Given the description of an element on the screen output the (x, y) to click on. 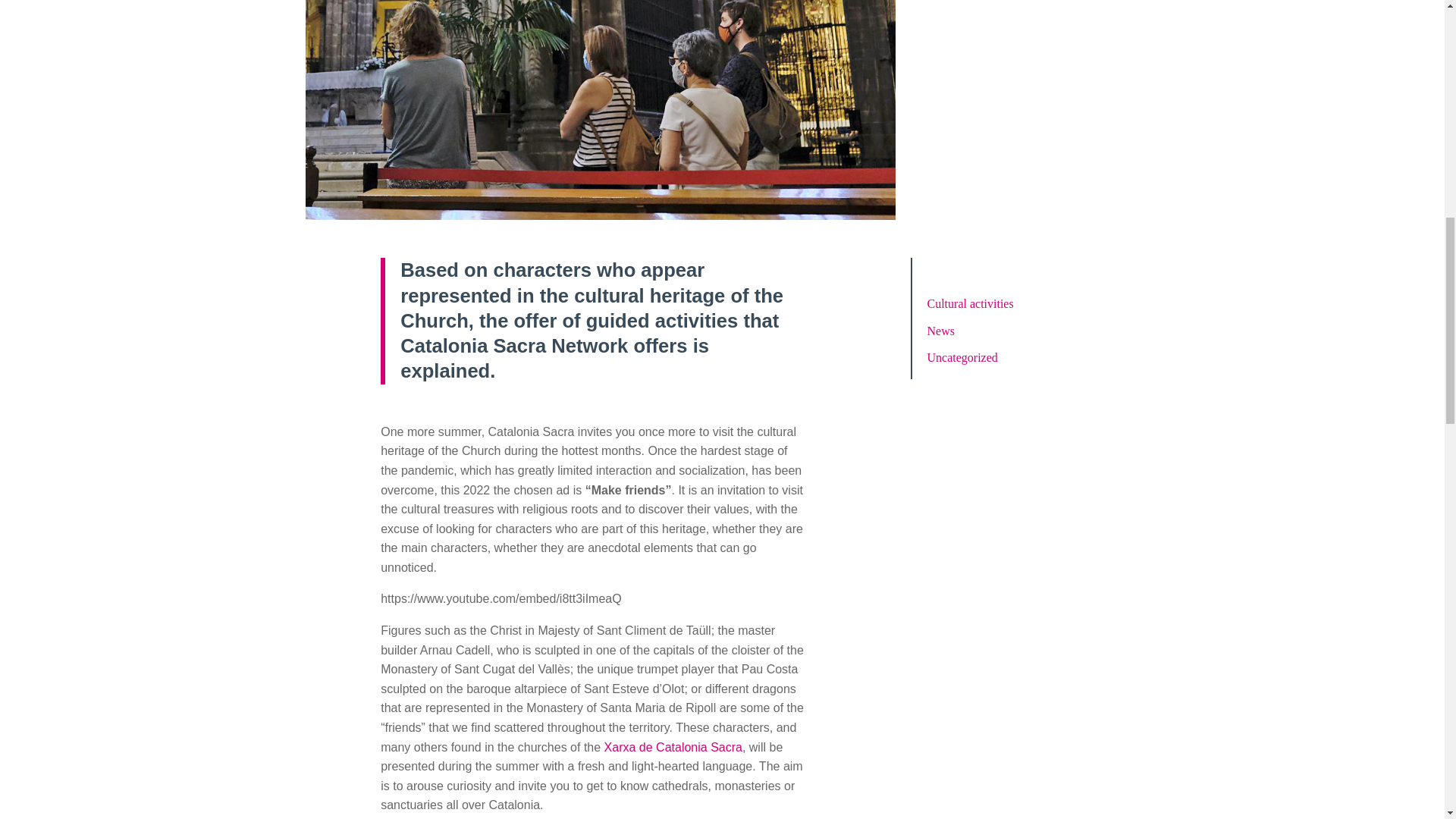
News (939, 330)
Cultural activities (969, 303)
Xarxa de Catalonia Sacra (673, 747)
Uncategorized (961, 357)
